Given the description of an element on the screen output the (x, y) to click on. 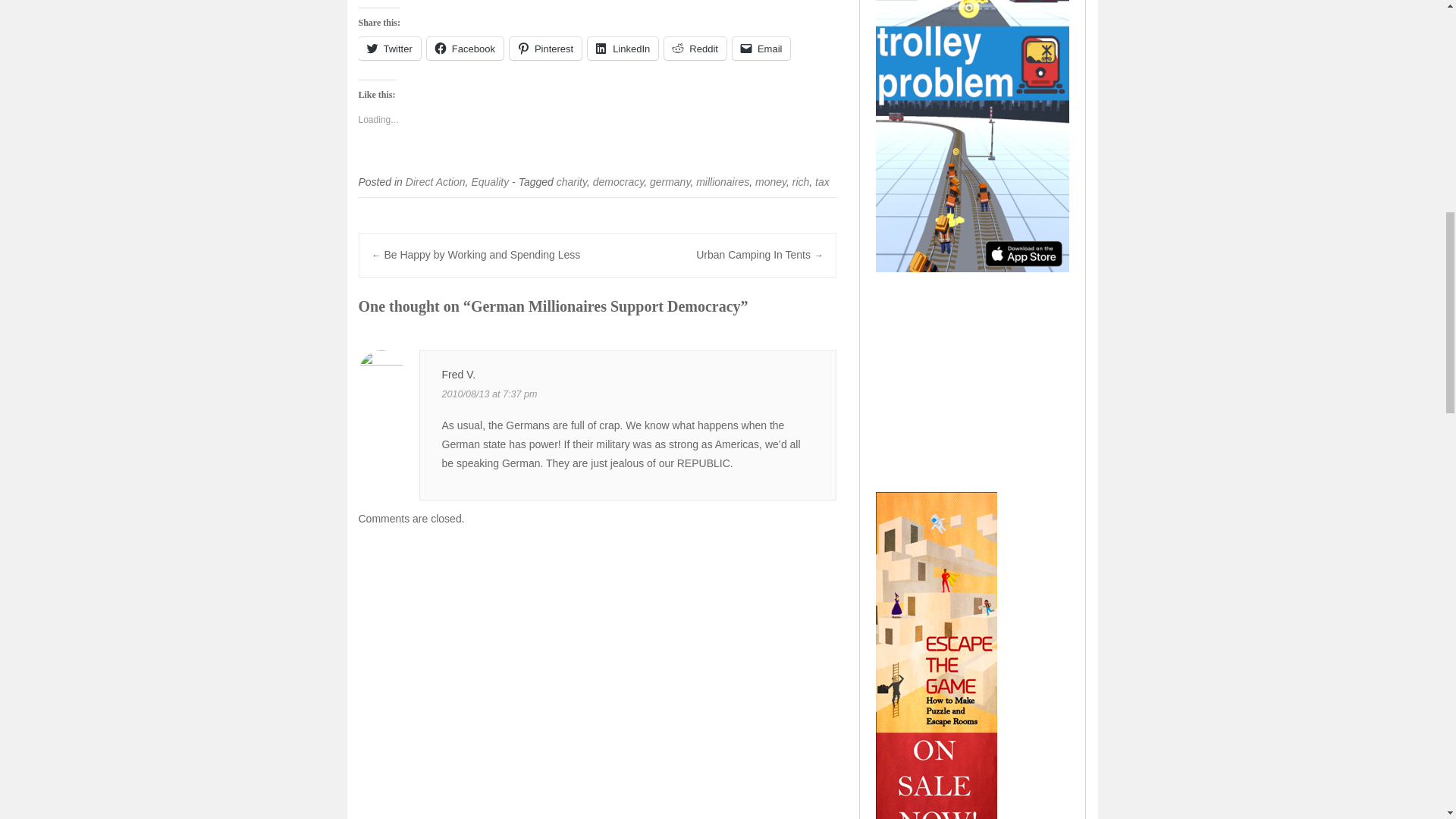
LinkedIn (623, 47)
Click to share on Twitter (389, 47)
Click to email a link to a friend (761, 47)
rich (800, 182)
Direct Action (435, 182)
germany (669, 182)
Click to share on Pinterest (544, 47)
democracy (617, 182)
Reddit (694, 47)
tax (822, 182)
